Given the description of an element on the screen output the (x, y) to click on. 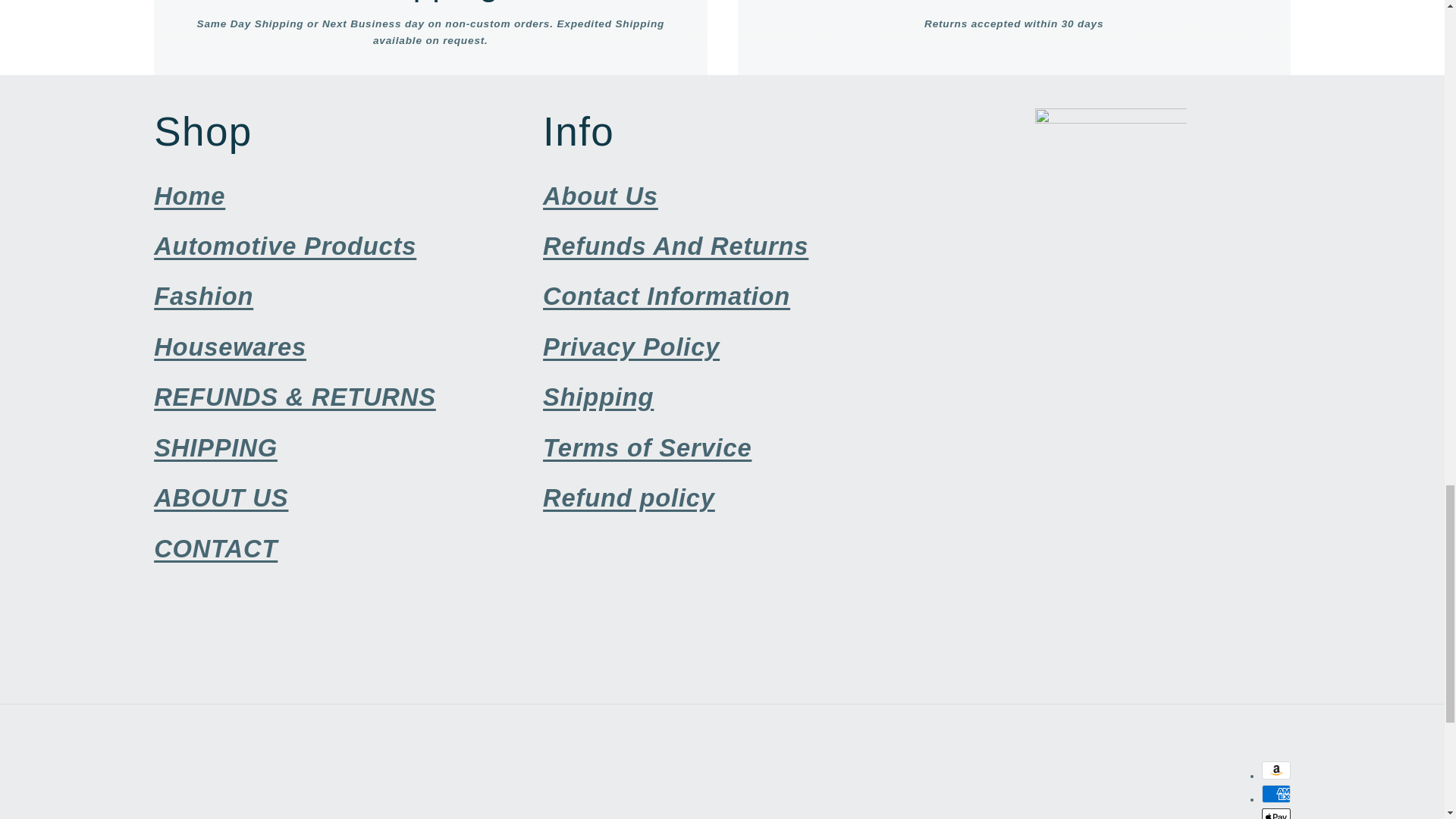
Apple Pay (1276, 813)
Amazon (1276, 770)
American Express (1276, 793)
